Given the description of an element on the screen output the (x, y) to click on. 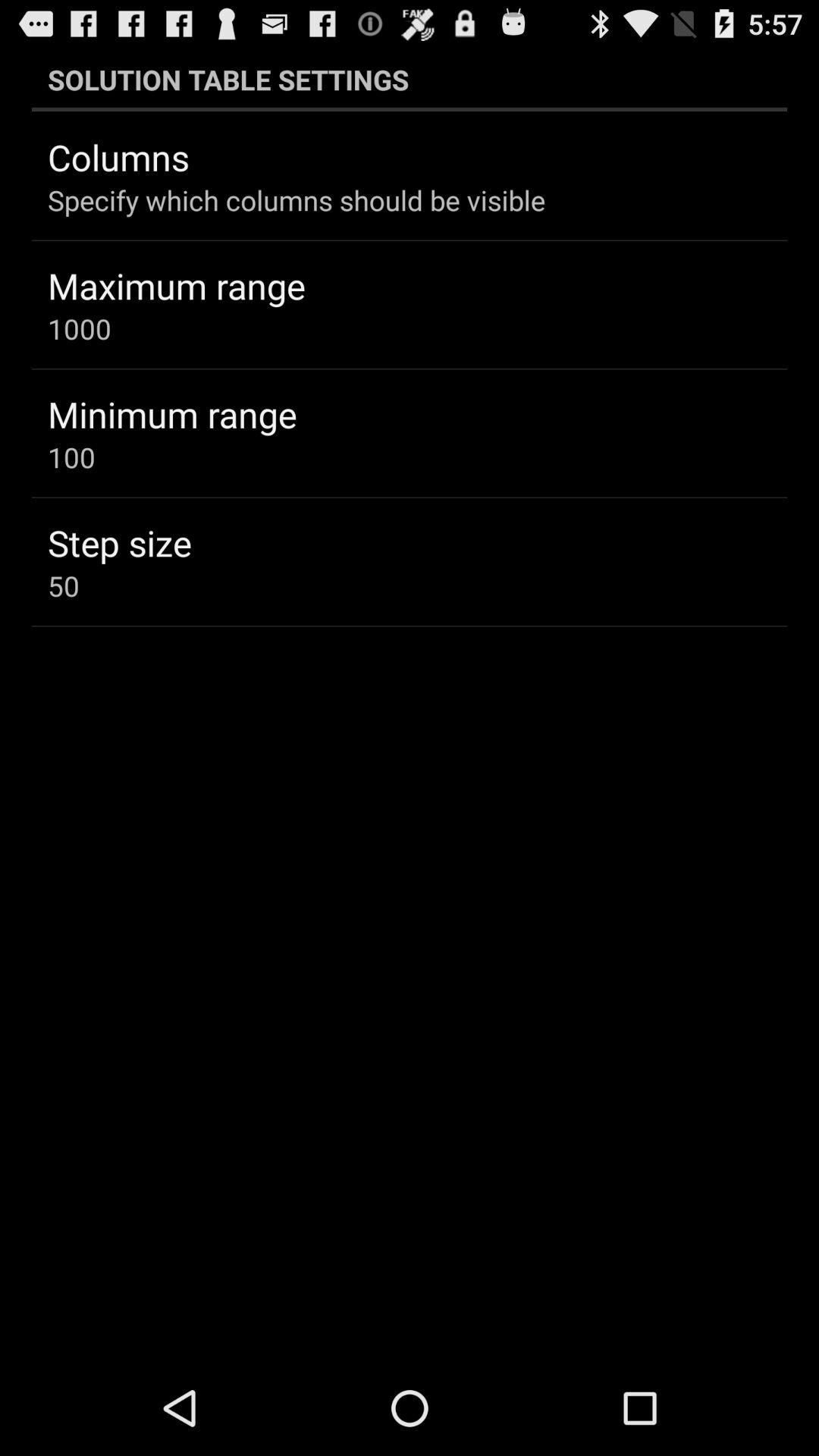
press the maximum range icon (176, 285)
